Given the description of an element on the screen output the (x, y) to click on. 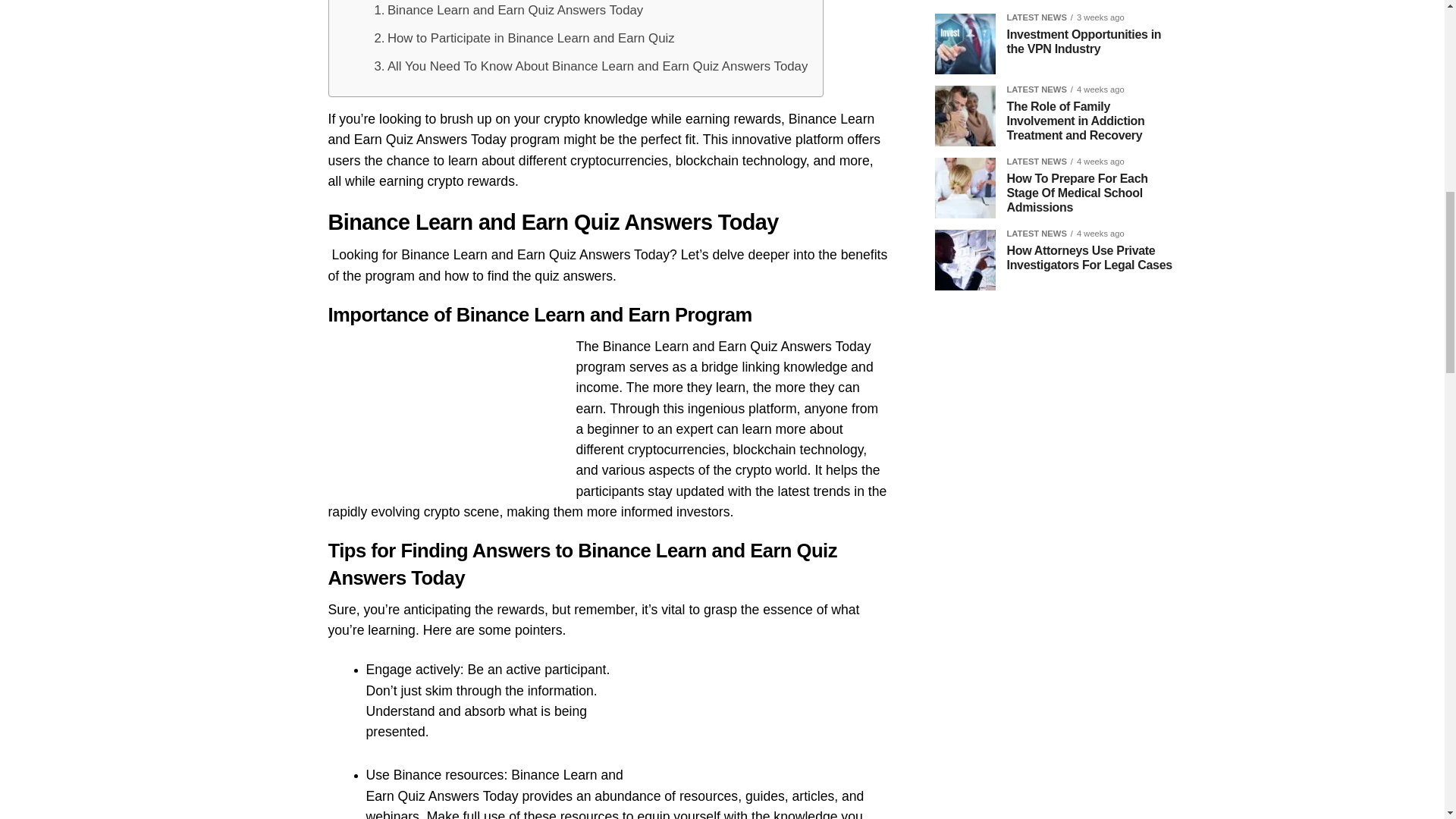
How to Participate in Binance Learn and Earn Quiz (524, 38)
Binance Learn and Earn Quiz Answers Today (508, 10)
